Given the description of an element on the screen output the (x, y) to click on. 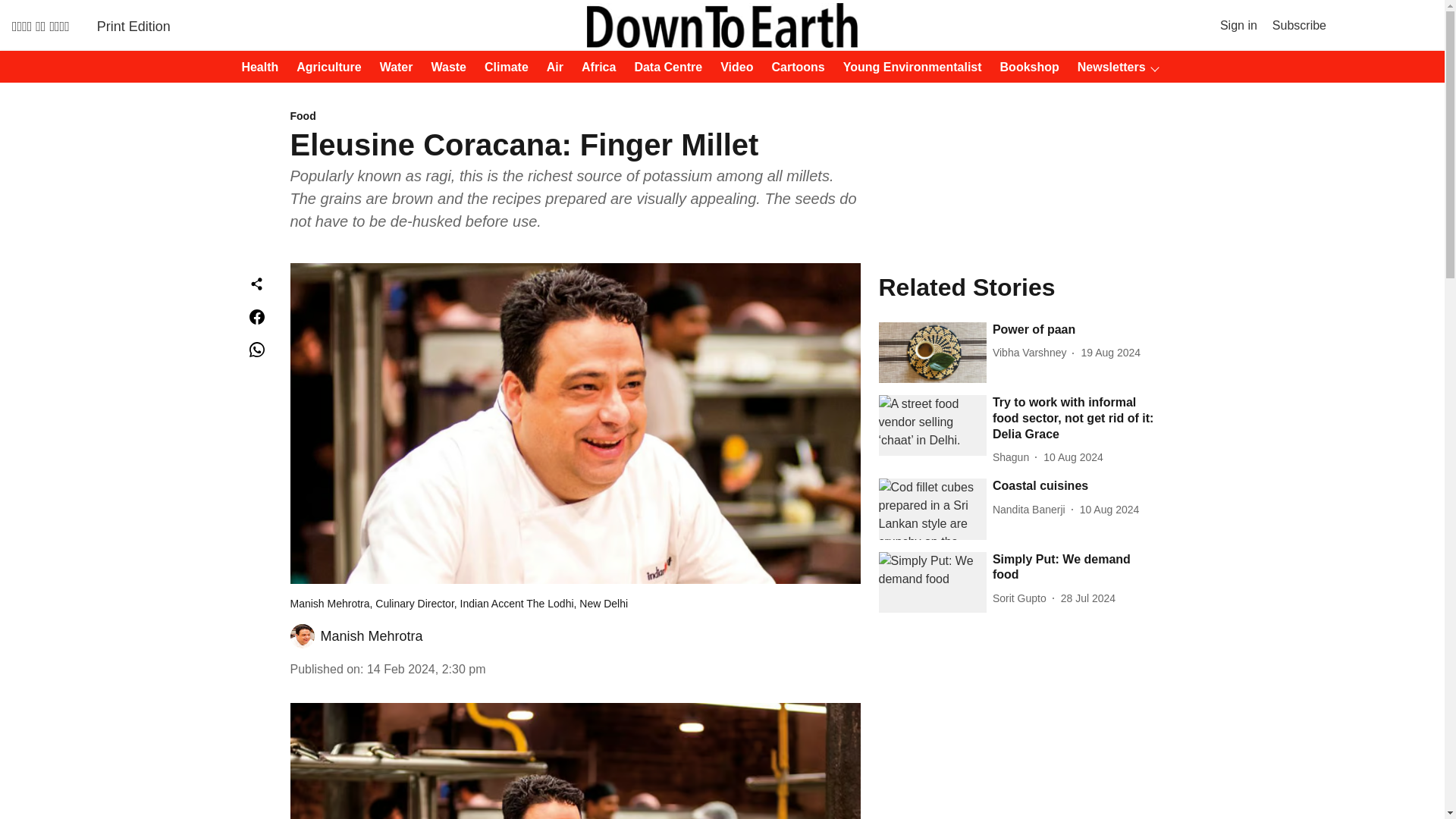
Waste (443, 67)
2024-07-28 04:42 (1088, 598)
Africa (593, 67)
Bookshop (1025, 67)
Young Environmentalist (907, 67)
Cartoons (793, 67)
2024-08-10 03:33 (1110, 509)
Agriculture (323, 67)
Climate (502, 67)
Data Centre (662, 67)
